Given the description of an element on the screen output the (x, y) to click on. 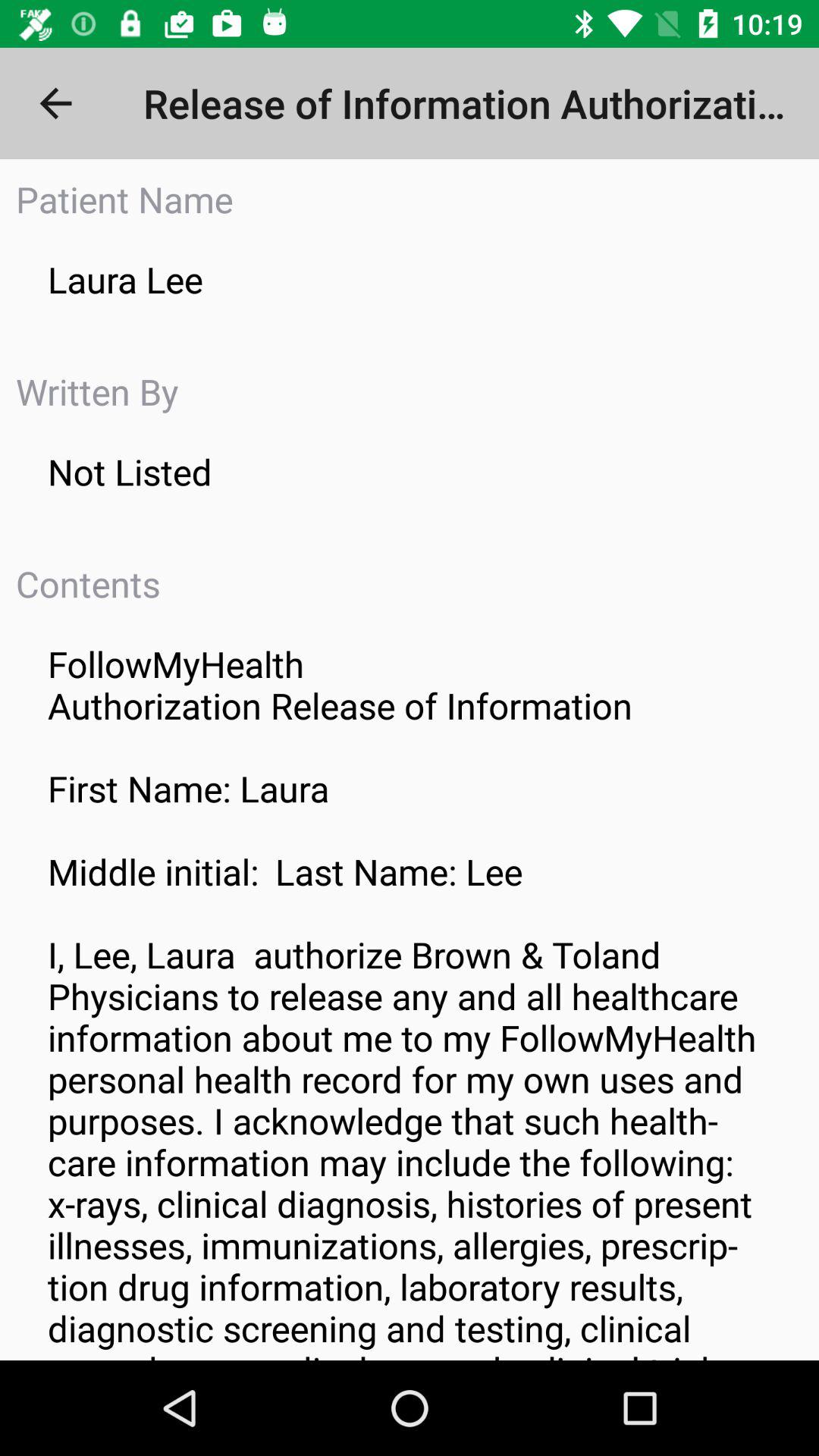
press the icon at the top left corner (55, 103)
